Given the description of an element on the screen output the (x, y) to click on. 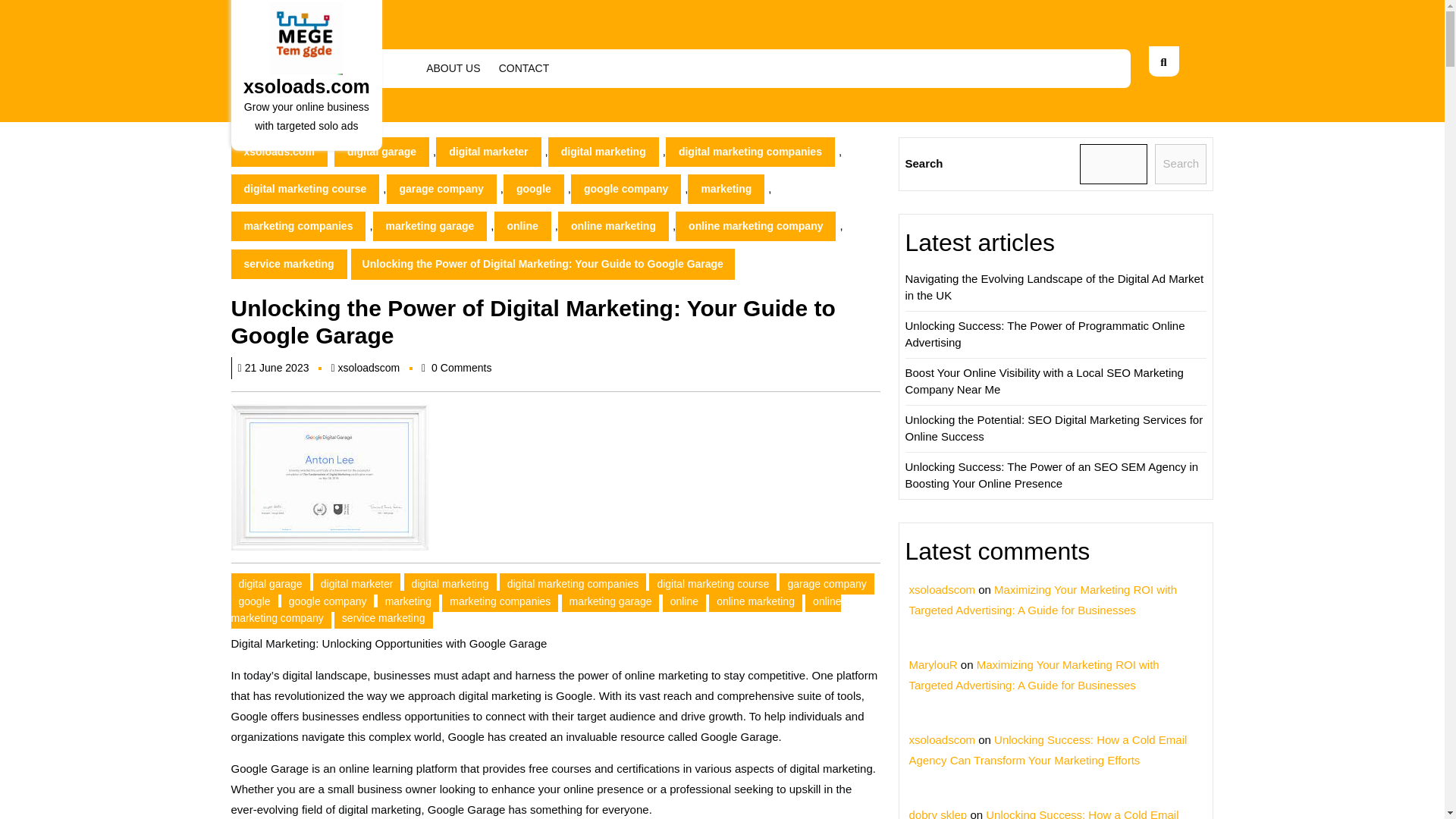
google company (625, 188)
digital marketer (487, 152)
ABOUT US (453, 68)
online marketing (755, 599)
digital marketer (357, 583)
google (254, 599)
marketing companies (499, 599)
xsoloads.com (306, 85)
service marketing (288, 264)
garage company (441, 188)
online (523, 225)
marketing companies (297, 225)
digital garage (381, 152)
marketing (408, 599)
digital garage (269, 583)
